Given the description of an element on the screen output the (x, y) to click on. 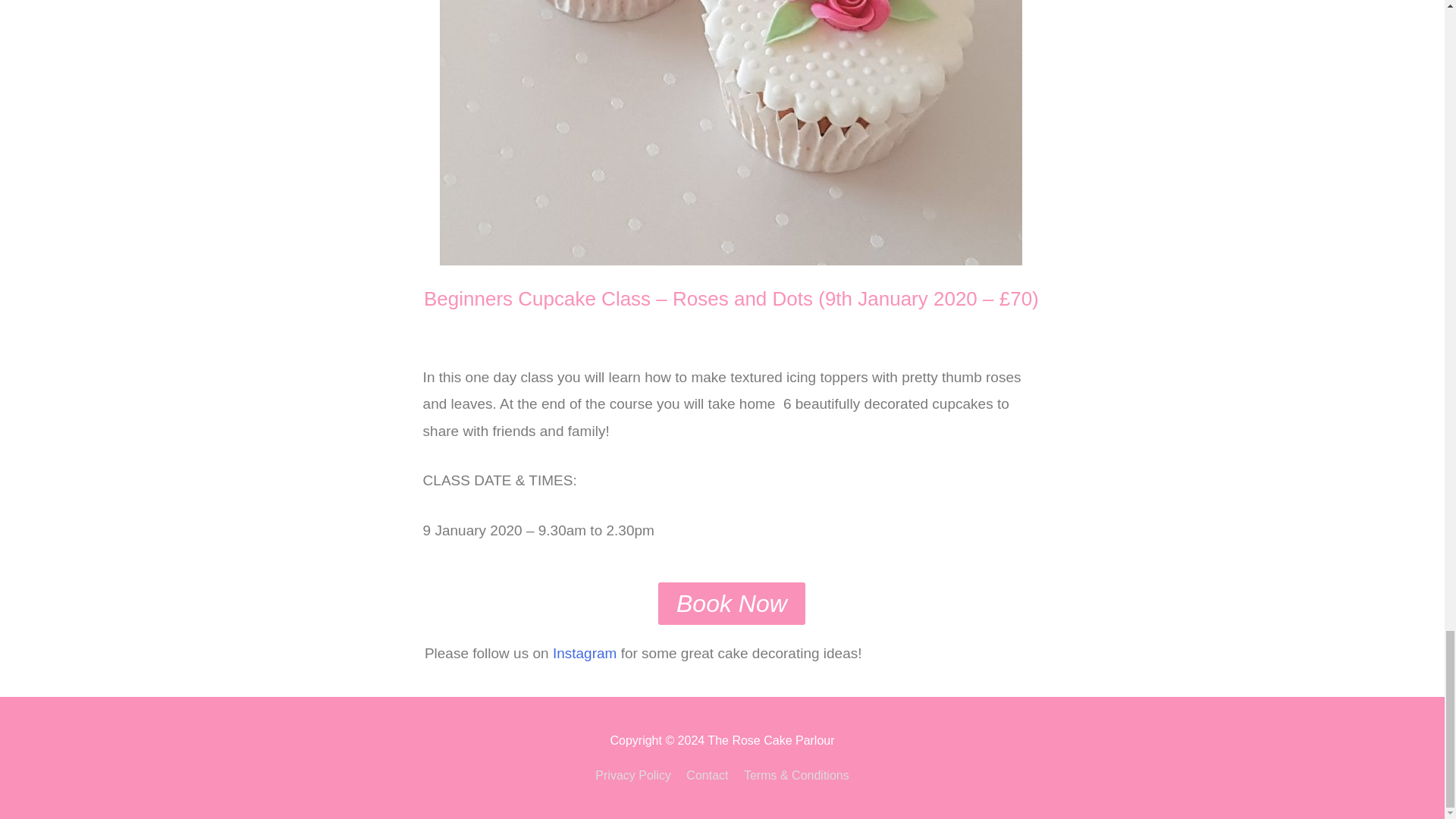
Privacy Policy (636, 775)
Book Now (731, 603)
Instagram (584, 652)
Contact (706, 775)
